Given the description of an element on the screen output the (x, y) to click on. 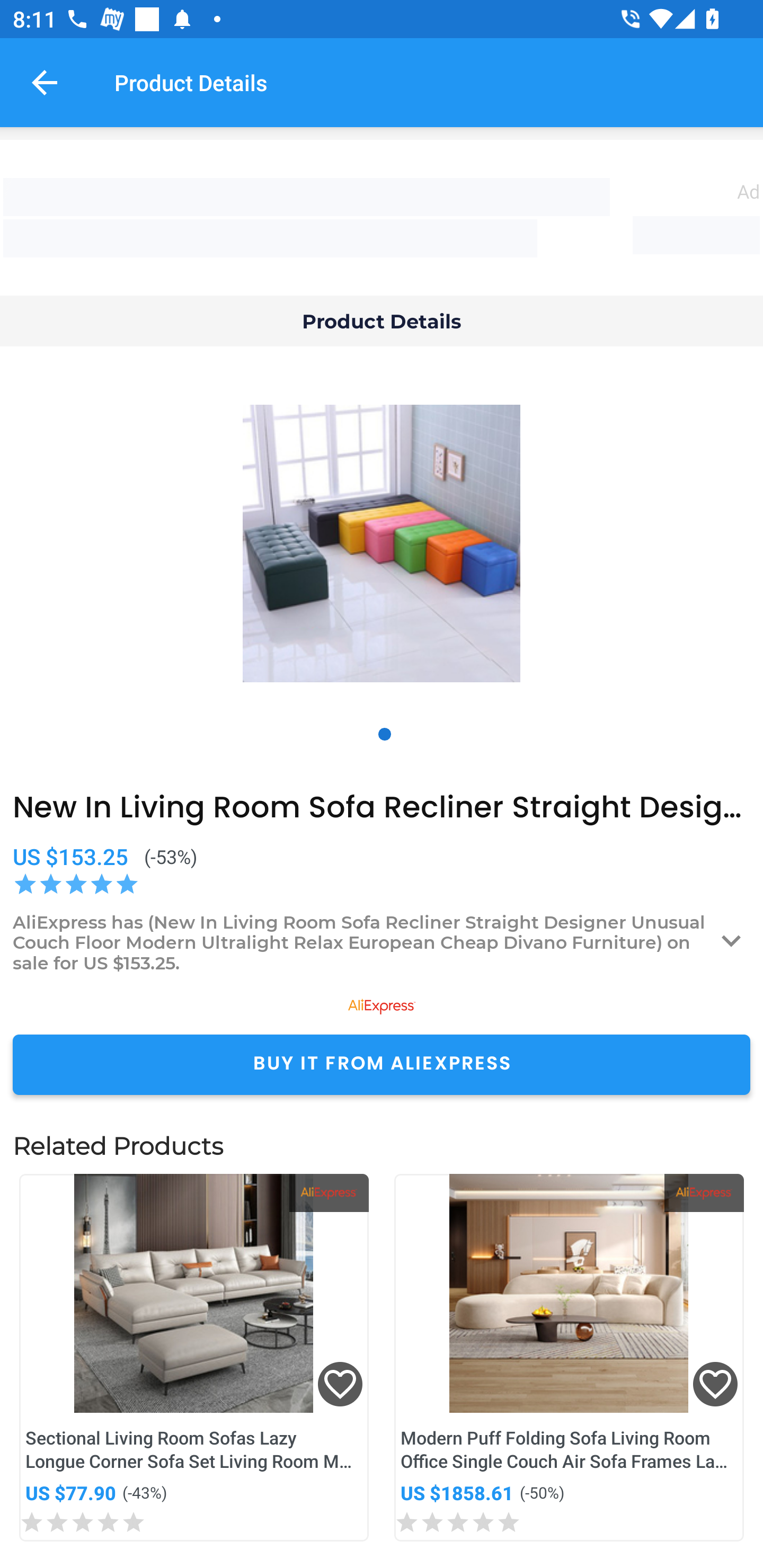
Navigate up (44, 82)
BUY IT FROM ALIEXPRESS (381, 1064)
